Given the description of an element on the screen output the (x, y) to click on. 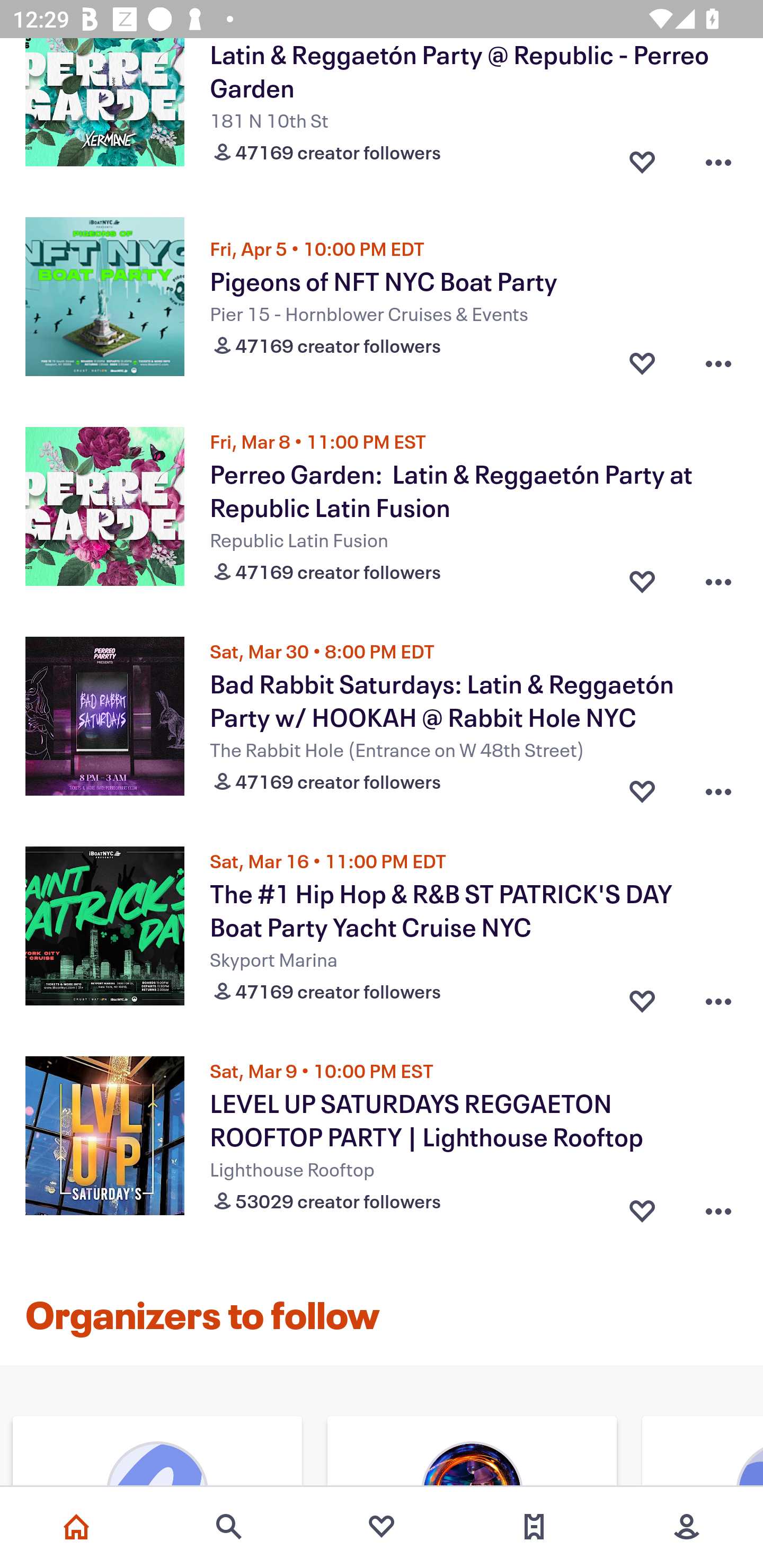
Favorite button (642, 157)
Overflow menu button (718, 157)
Favorite button (642, 363)
Overflow menu button (718, 363)
Favorite button (642, 577)
Overflow menu button (718, 577)
Favorite button (642, 787)
Overflow menu button (718, 787)
Favorite button (642, 997)
Overflow menu button (718, 997)
Favorite button (642, 1206)
Overflow menu button (718, 1206)
Home (76, 1526)
Search events (228, 1526)
Favorites (381, 1526)
Tickets (533, 1526)
More (686, 1526)
